Given the description of an element on the screen output the (x, y) to click on. 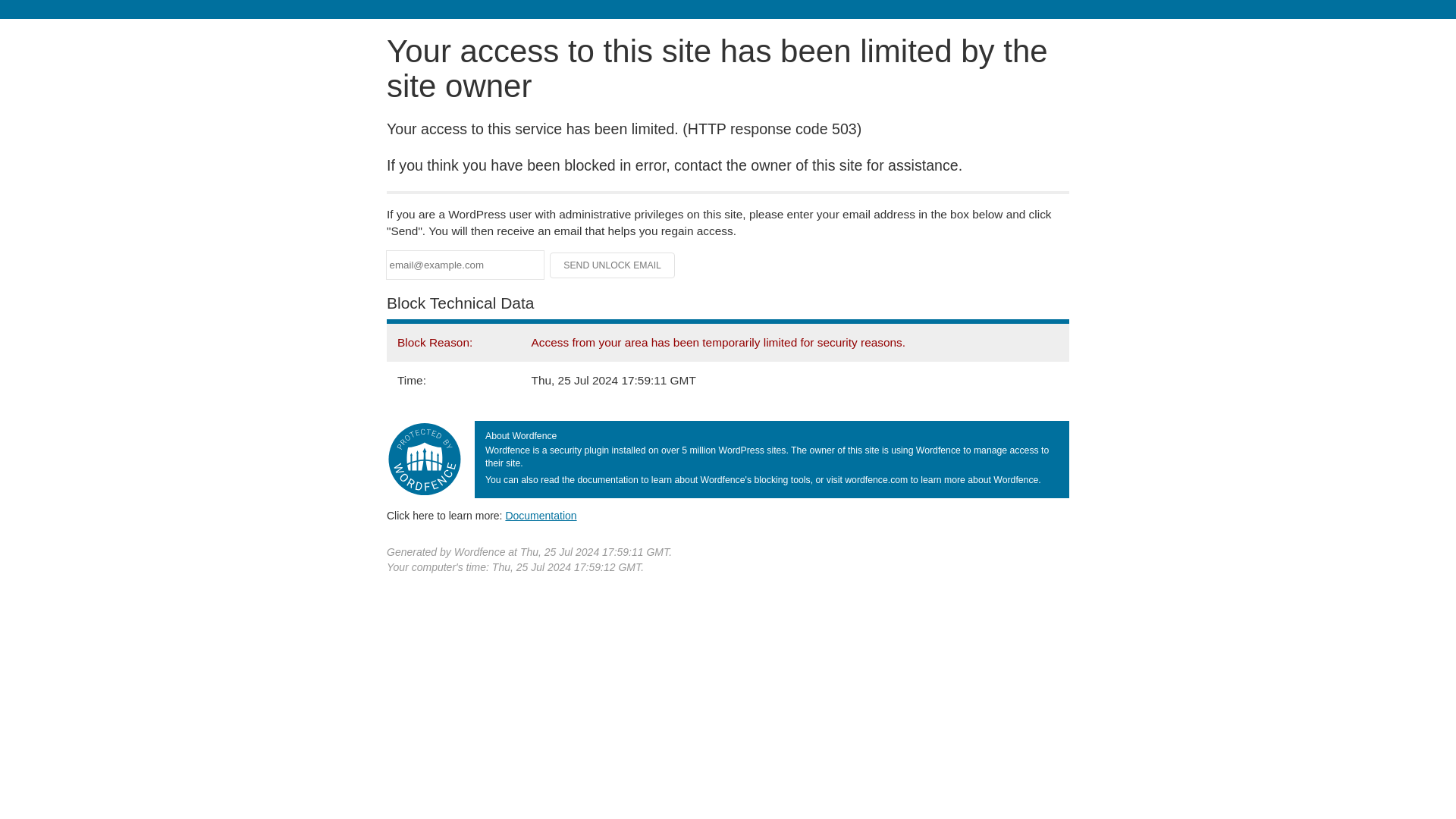
Documentation (540, 515)
Send Unlock Email (612, 265)
Send Unlock Email (612, 265)
